Given the description of an element on the screen output the (x, y) to click on. 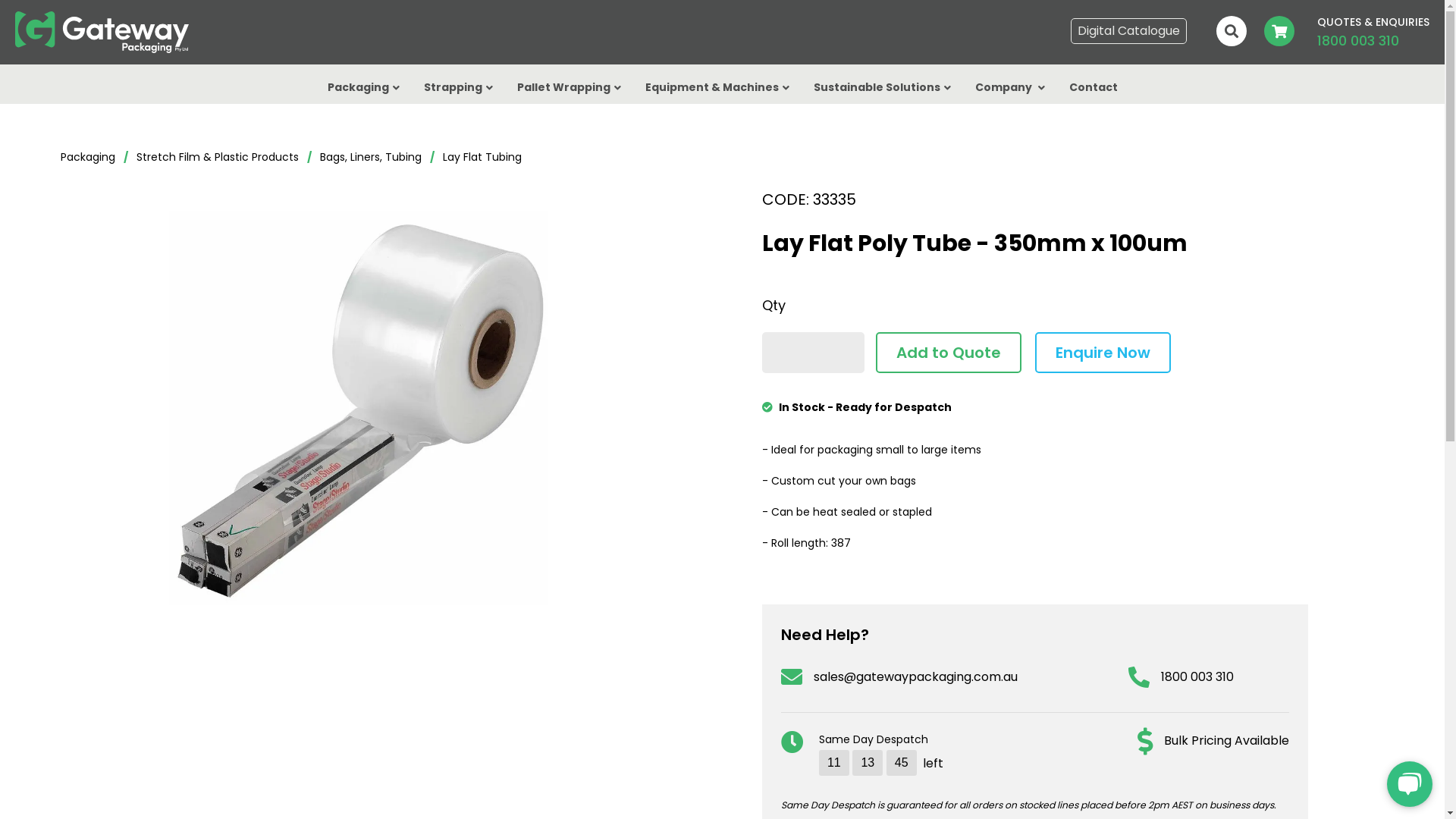
Enquire Now Element type: text (1102, 352)
Add to Quote Element type: text (948, 352)
Sustainable Solutions Element type: text (881, 89)
sales@gatewaypackaging.com.au Element type: text (899, 676)
1800 003 310 Element type: text (1180, 676)
1800 003 310 Element type: text (1358, 40)
Strapping Element type: text (457, 89)
Pallet Wrapping Element type: text (569, 89)
Lay Flat Tubing Element type: text (481, 157)
Contact Element type: text (1093, 89)
Packaging Element type: text (87, 157)
Company Element type: text (1010, 89)
Bags, Liners, Tubing Element type: text (370, 157)
Equipment & Machines Element type: text (716, 89)
Stretch Film & Plastic Products Element type: text (217, 157)
Packaging Element type: text (363, 89)
Digital Catalogue Element type: text (1128, 30)
